Given the description of an element on the screen output the (x, y) to click on. 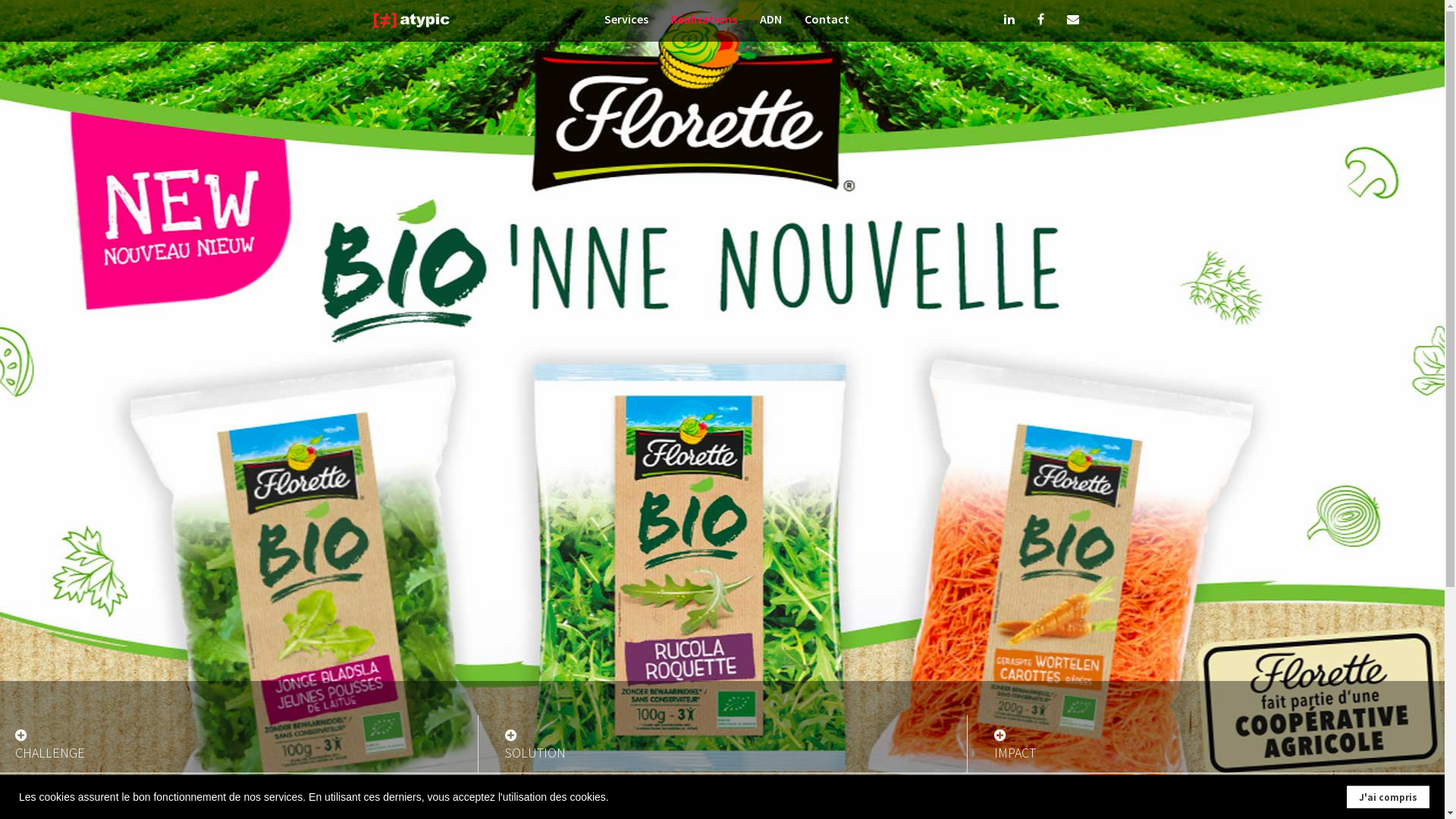
info@atypic.be Element type: text (121, 792)
Email Element type: hover (1362, 792)
Contact Element type: text (826, 20)
Community Element type: text (985, 686)
ADN Element type: text (770, 20)
Facebook Element type: hover (1040, 20)
Consultance Element type: text (194, 665)
Event corporate Element type: text (721, 665)
Facebook Element type: hover (1346, 792)
Packaging Element type: text (458, 707)
Activation POS Element type: text (1249, 728)
Actions terrain Element type: text (721, 707)
LinkedIn Element type: hover (1009, 20)
Formations Element type: text (985, 707)
Display POS Element type: text (458, 728)
Services Element type: text (625, 20)
LinkedIn Element type: hover (1330, 792)
Salon - Stand Element type: text (721, 686)
Email Element type: hover (1071, 20)
Charte Graphique Element type: text (458, 686)
E-Marketing - Lead Generation Element type: text (194, 686)
Activation Concours Element type: text (1249, 707)
